Given the description of an element on the screen output the (x, y) to click on. 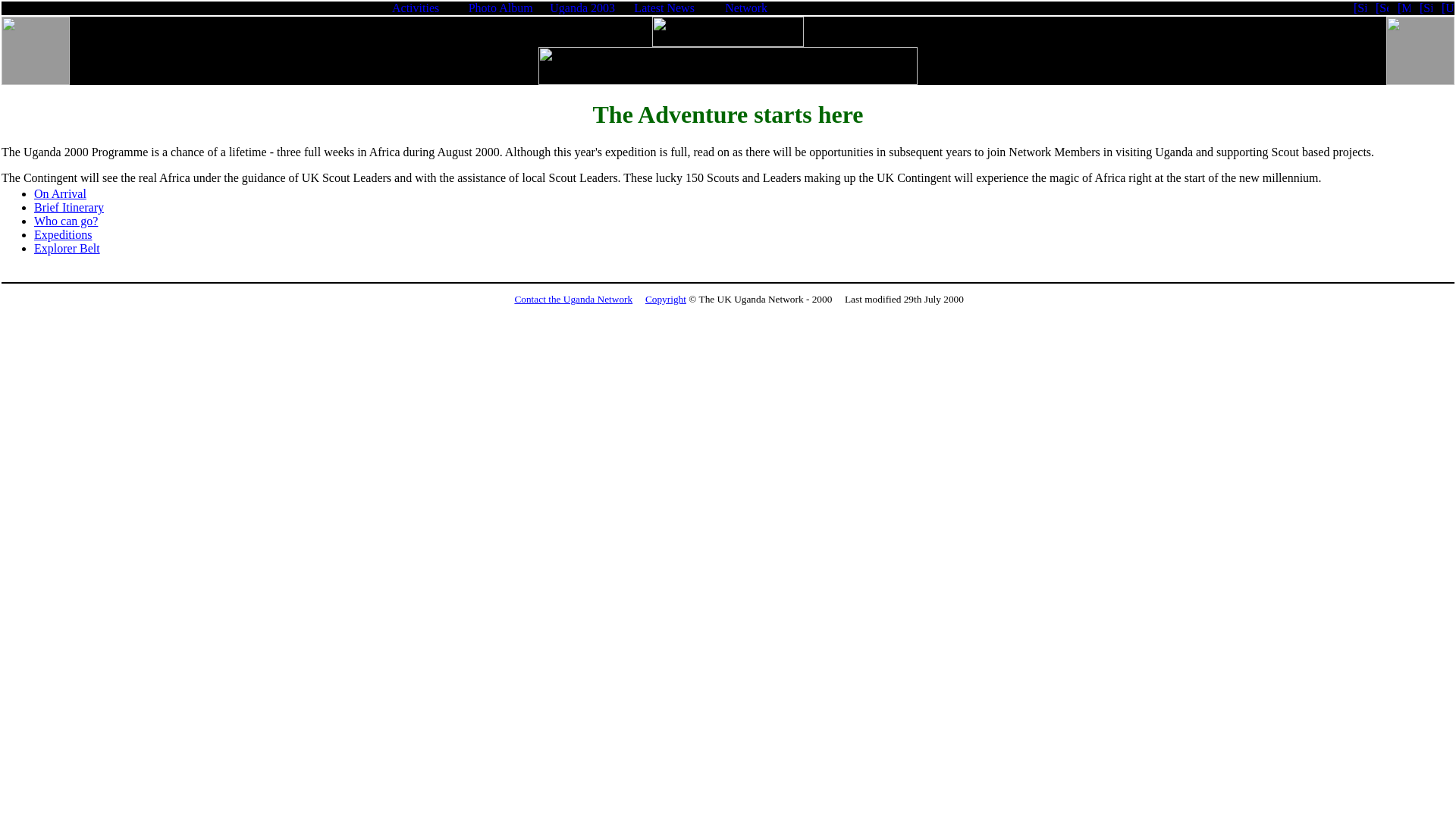
UK Uganda Network (727, 31)
Brief Itinerary (68, 206)
The UK Uganda Network (727, 65)
Copyright (665, 298)
On Arrival (59, 193)
Contact the Uganda Network (572, 298)
Expeditions (62, 234)
Who can go? (65, 220)
Explorer Belt (66, 247)
